Given the description of an element on the screen output the (x, y) to click on. 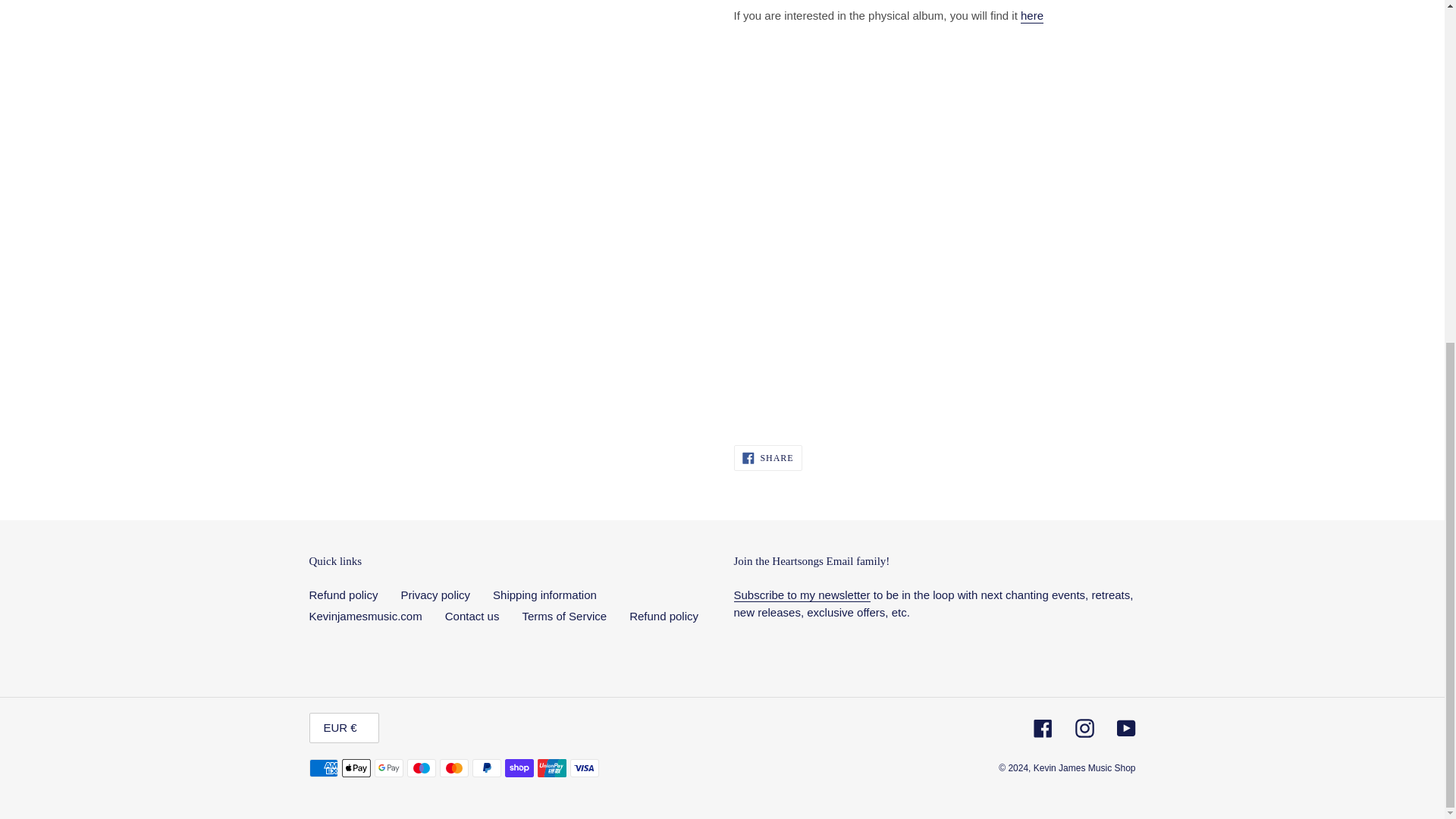
Privacy policy (435, 594)
Contact us (472, 615)
Kevinjamesmusic.com (365, 615)
Refund policy (343, 594)
Terms of Service (564, 615)
here (1031, 16)
Shipping information (767, 457)
